Given the description of an element on the screen output the (x, y) to click on. 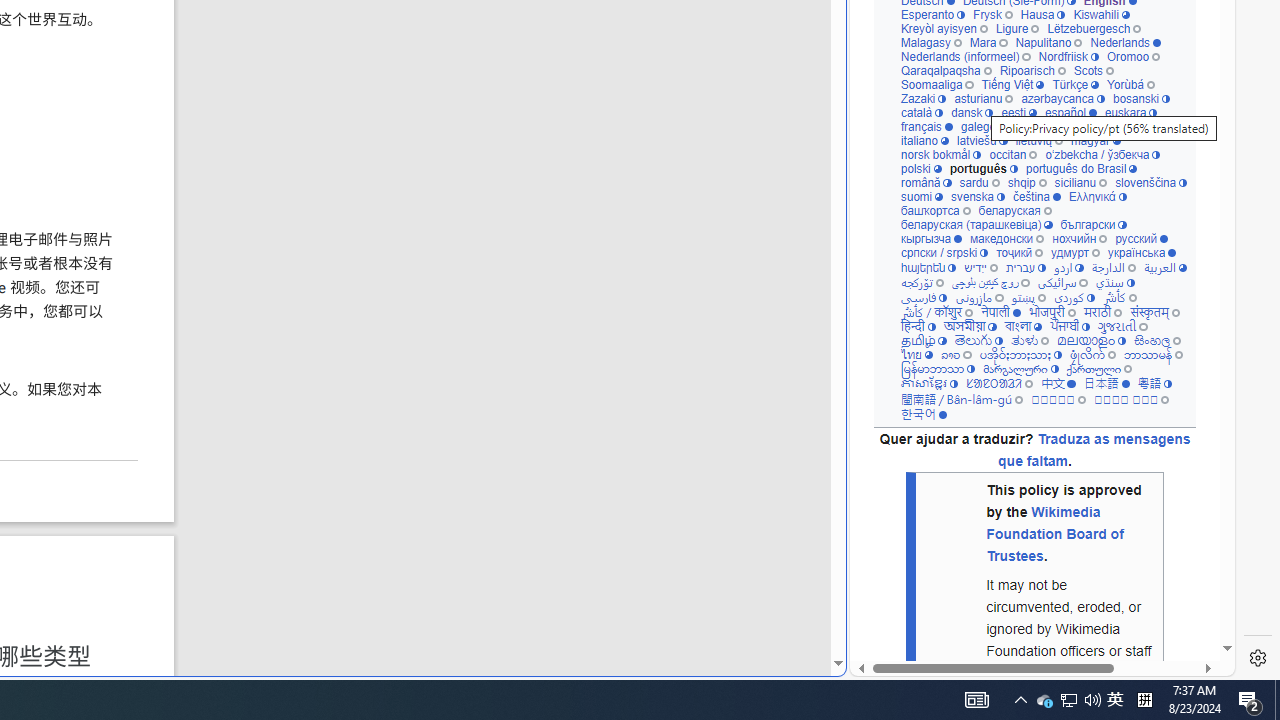
Ligure (1016, 28)
Ripoarisch (1032, 70)
interlingua (1106, 125)
Scots (1093, 70)
